Given the description of an element on the screen output the (x, y) to click on. 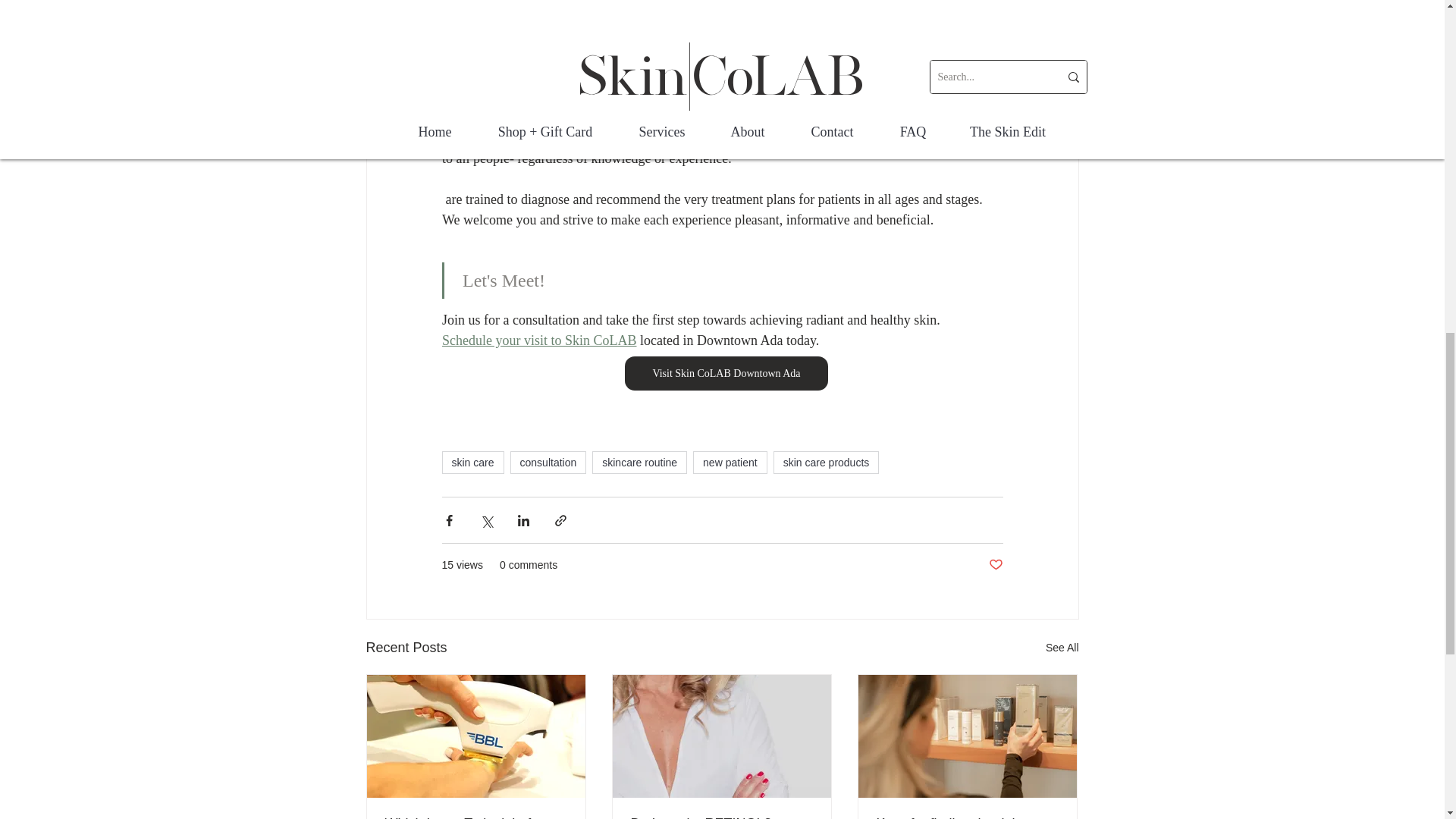
Schedule your visit to Skin CoLAB (538, 340)
Visit Skin CoLAB Downtown Ada (726, 373)
new patient (730, 462)
skin care products (826, 462)
skin care (472, 462)
skincare routine (639, 462)
consultation (548, 462)
